Given the description of an element on the screen output the (x, y) to click on. 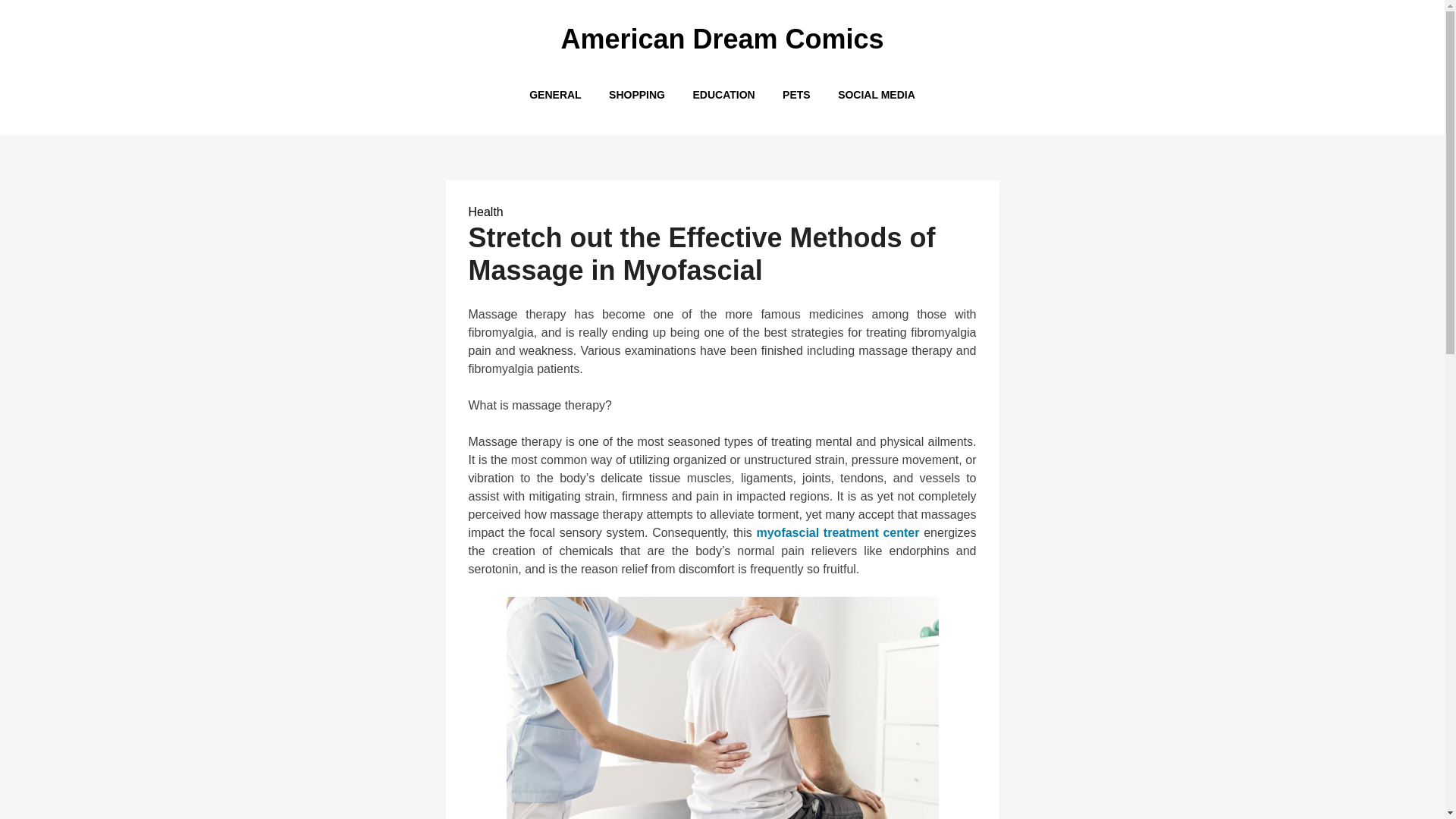
Health (485, 211)
GENERAL (554, 94)
myofascial treatment center (836, 532)
PETS (796, 94)
SOCIAL MEDIA (876, 94)
American Dream Comics (721, 38)
SHOPPING (636, 94)
EDUCATION (723, 94)
